Given the description of an element on the screen output the (x, y) to click on. 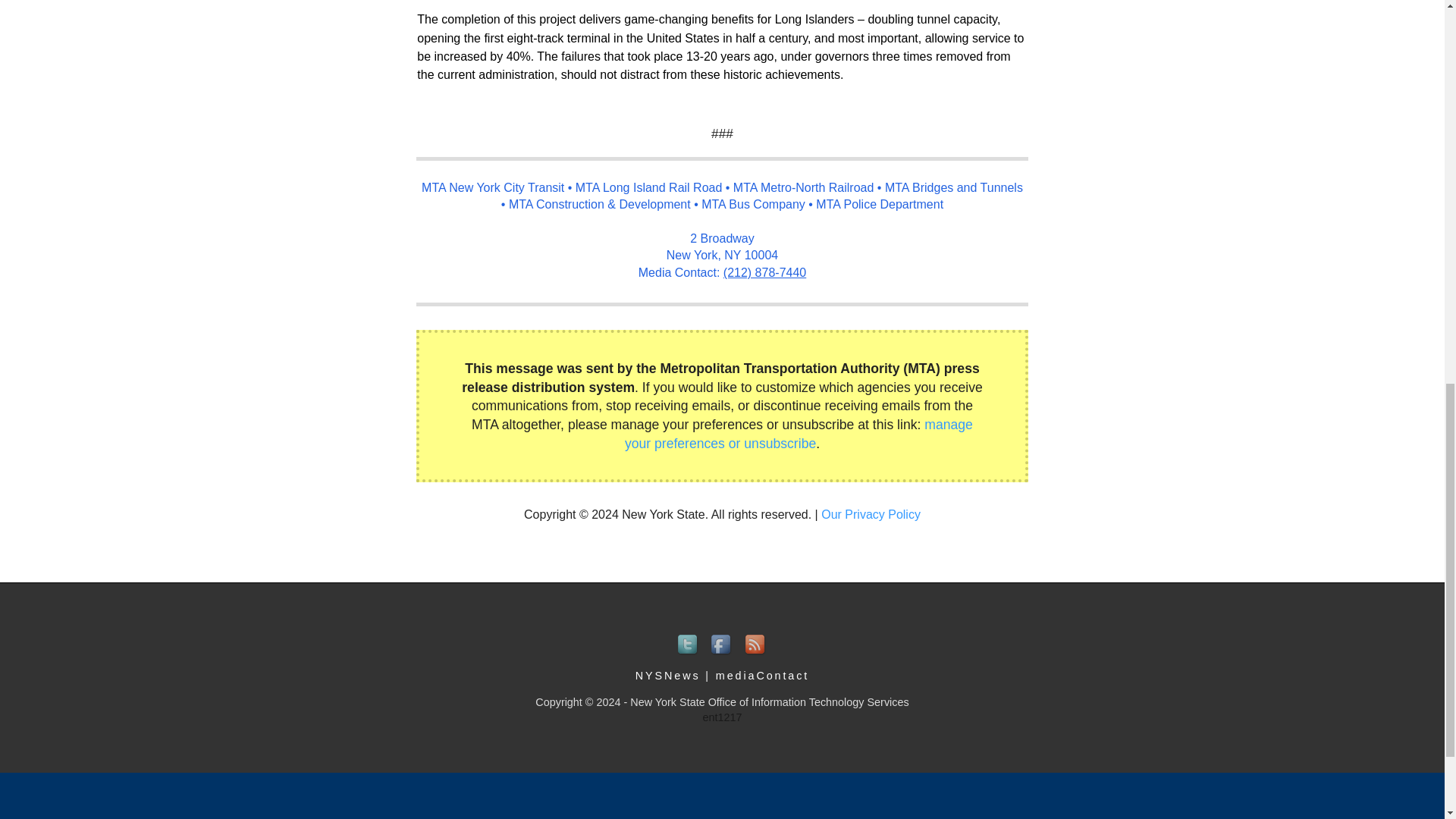
NYSNews (667, 675)
manage your preferences or unsubscribe (798, 433)
Our Privacy Policy (870, 513)
mediaContact (762, 675)
